Given the description of an element on the screen output the (x, y) to click on. 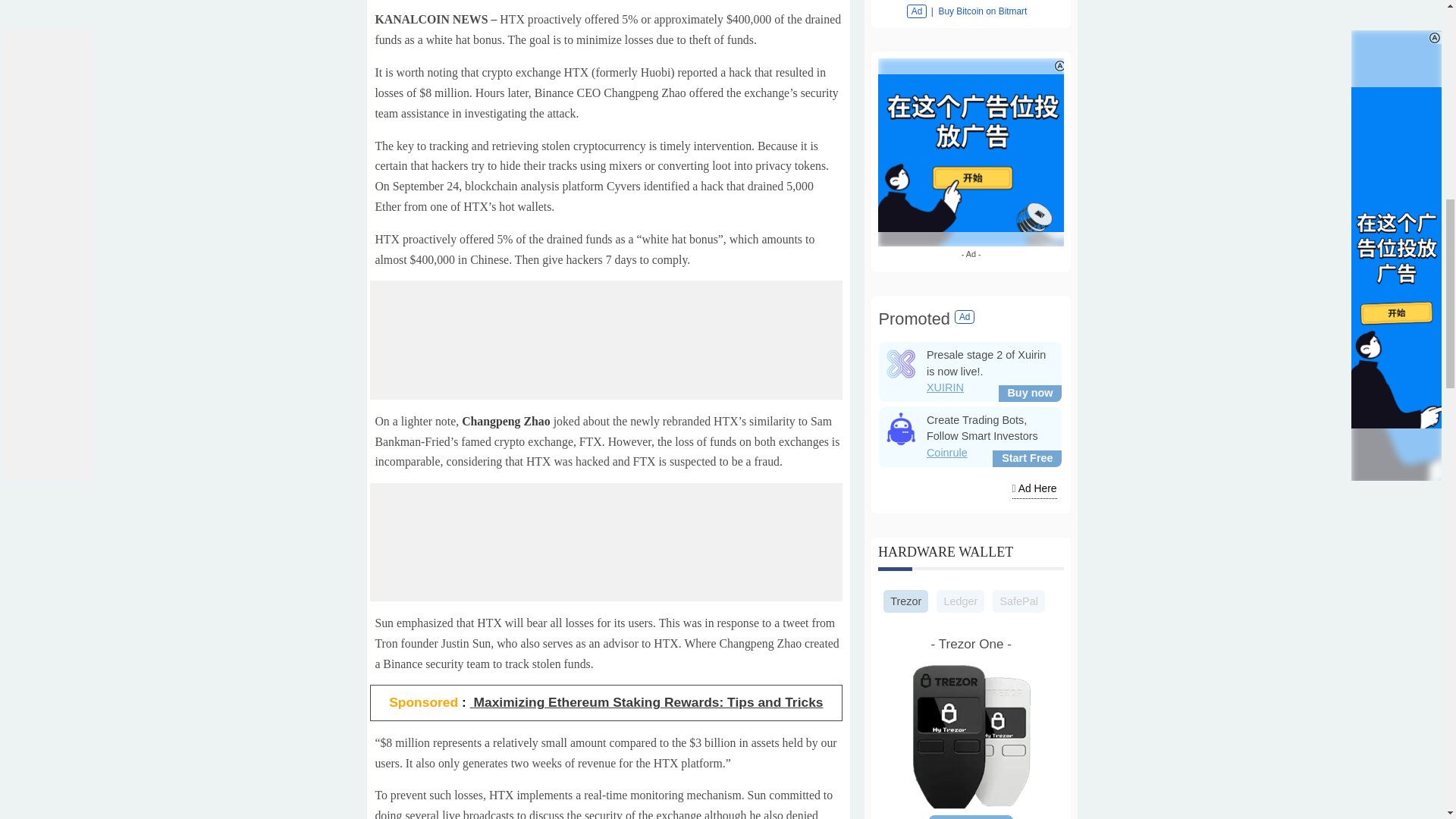
Telegram (552, 76)
Share this on Facebook (428, 76)
Tweet this ! (458, 76)
Advertisement (612, 555)
WhatsApp (521, 76)
Submit this to Reddit (582, 76)
Short link (614, 76)
Add this to LinkedIn (490, 76)
Advertisement (612, 351)
